Given the description of an element on the screen output the (x, y) to click on. 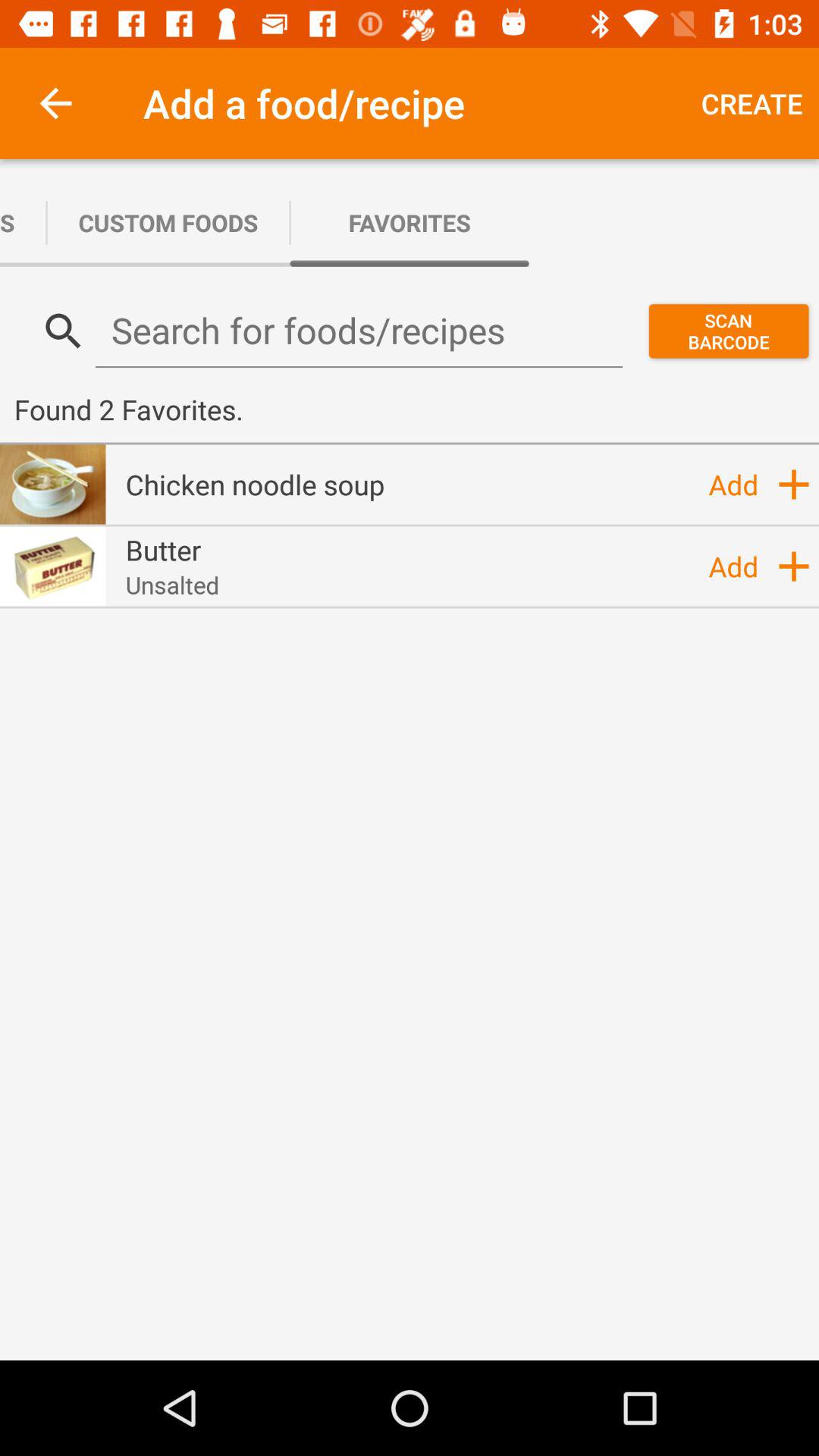
select the icon to the left of add item (172, 584)
